Given the description of an element on the screen output the (x, y) to click on. 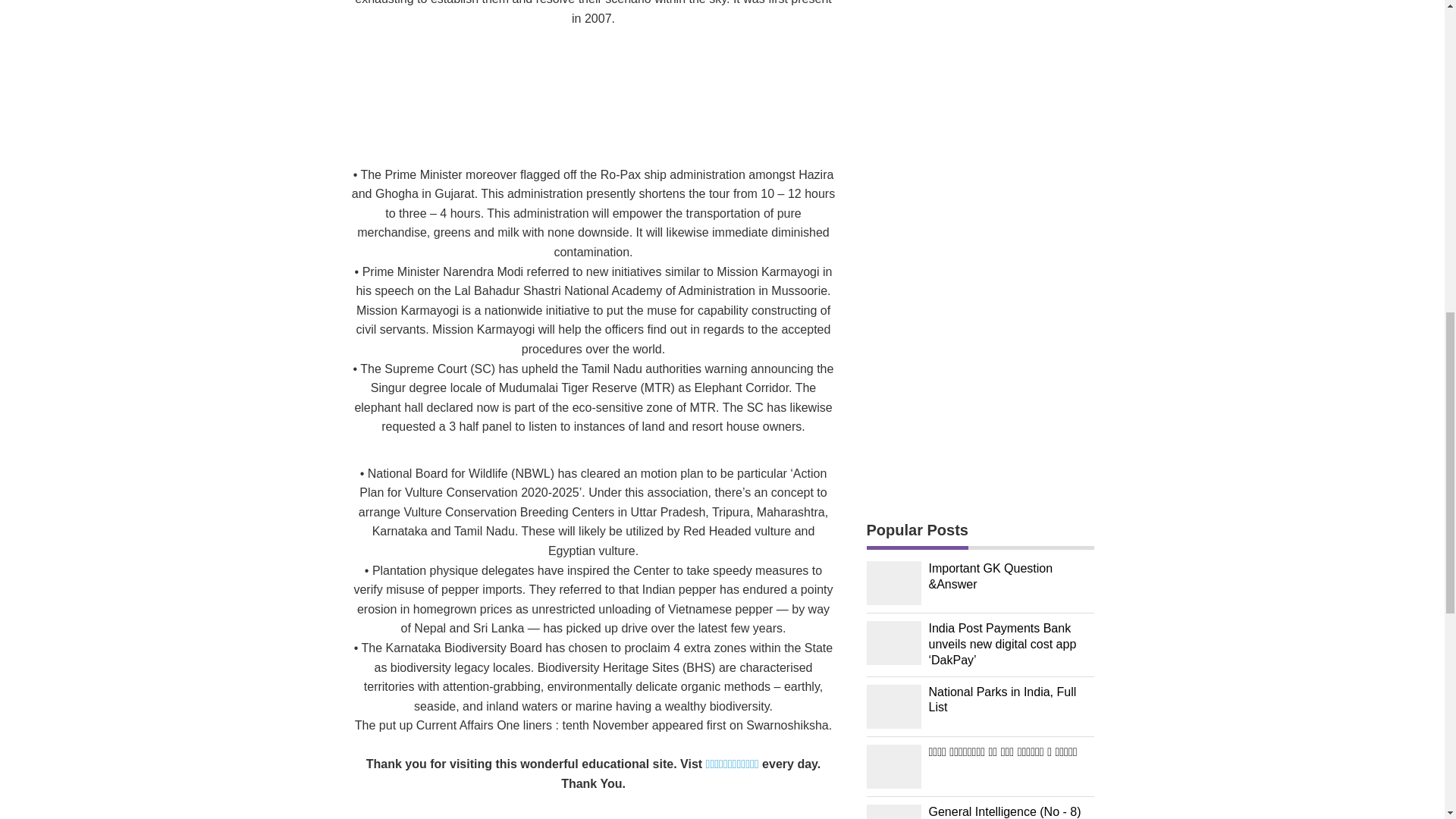
Advertisement (979, 242)
National Parks in India, Full List (1010, 700)
Advertisement (592, 97)
